Given the description of an element on the screen output the (x, y) to click on. 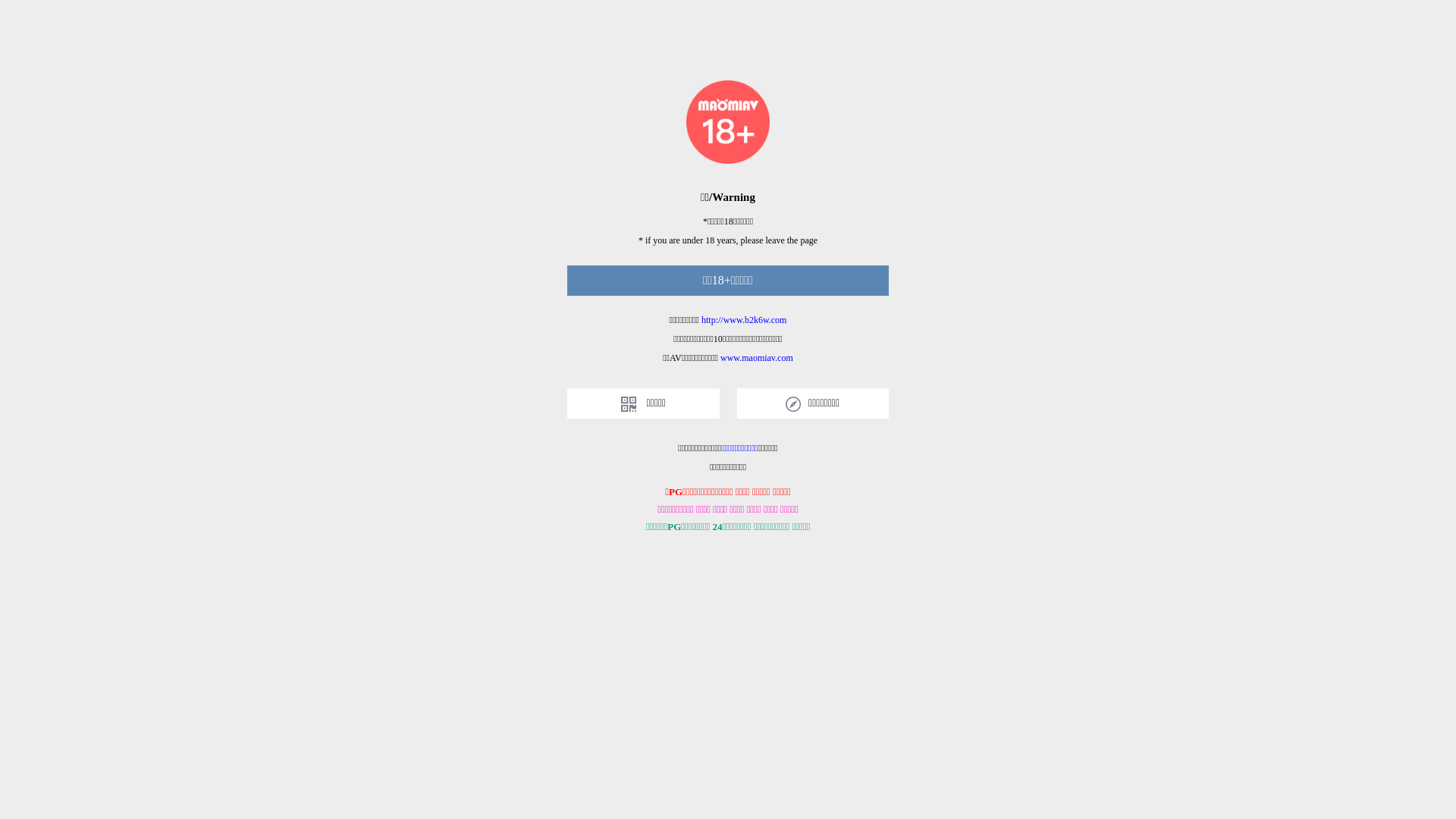
www.maomiav.com Element type: text (756, 357)
http://www.b2k6w.com Element type: text (743, 319)
